Given the description of an element on the screen output the (x, y) to click on. 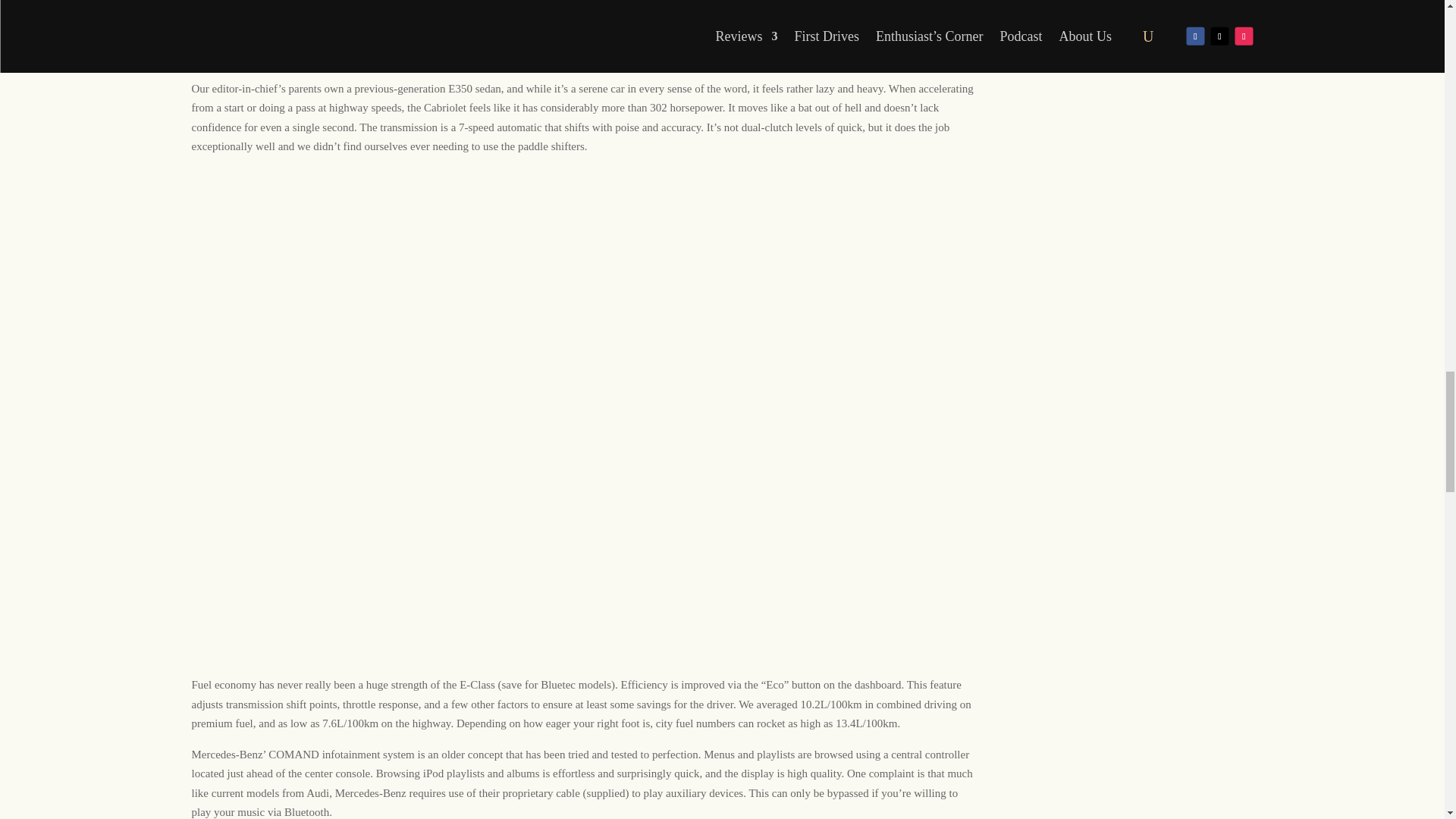
2014 BMW 428i Cabriolet (661, 2)
2014 Mercedes-Benz CLA45 AMG (853, 38)
2014 Audi RS5 Cabriolet (532, 2)
